Given the description of an element on the screen output the (x, y) to click on. 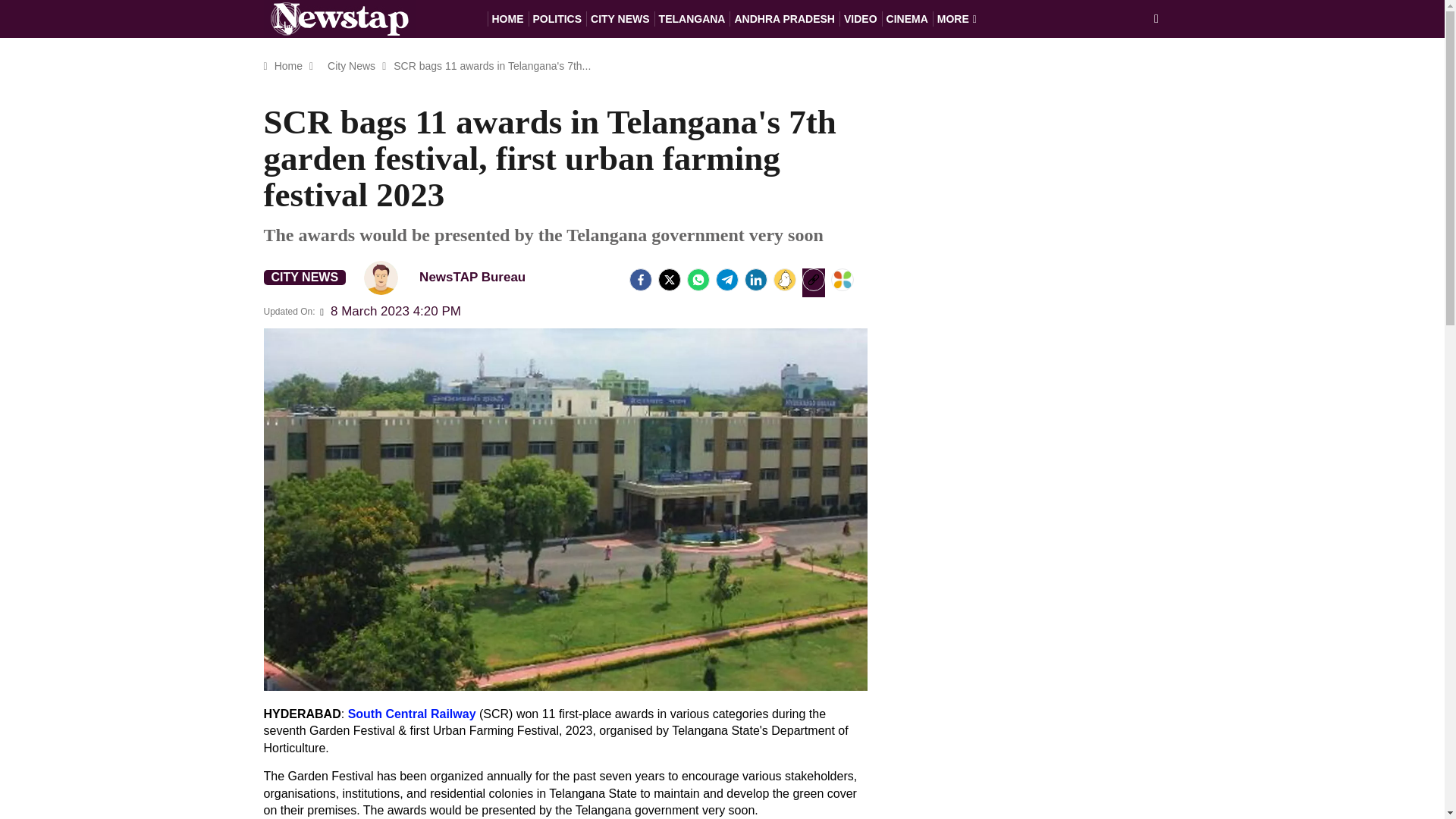
MORE (957, 18)
CITY NEWS (304, 277)
ANDHRA PRADESH (784, 18)
CINEMA (907, 18)
TELANGANA (691, 18)
LinkedIn (755, 279)
VIDEO (861, 18)
NewsTAP Bureau (380, 277)
CITY NEWS (619, 18)
HOME (506, 18)
NewsTAP Bureau (451, 277)
POLITICS (556, 18)
Home (287, 65)
City News (350, 65)
